Given the description of an element on the screen output the (x, y) to click on. 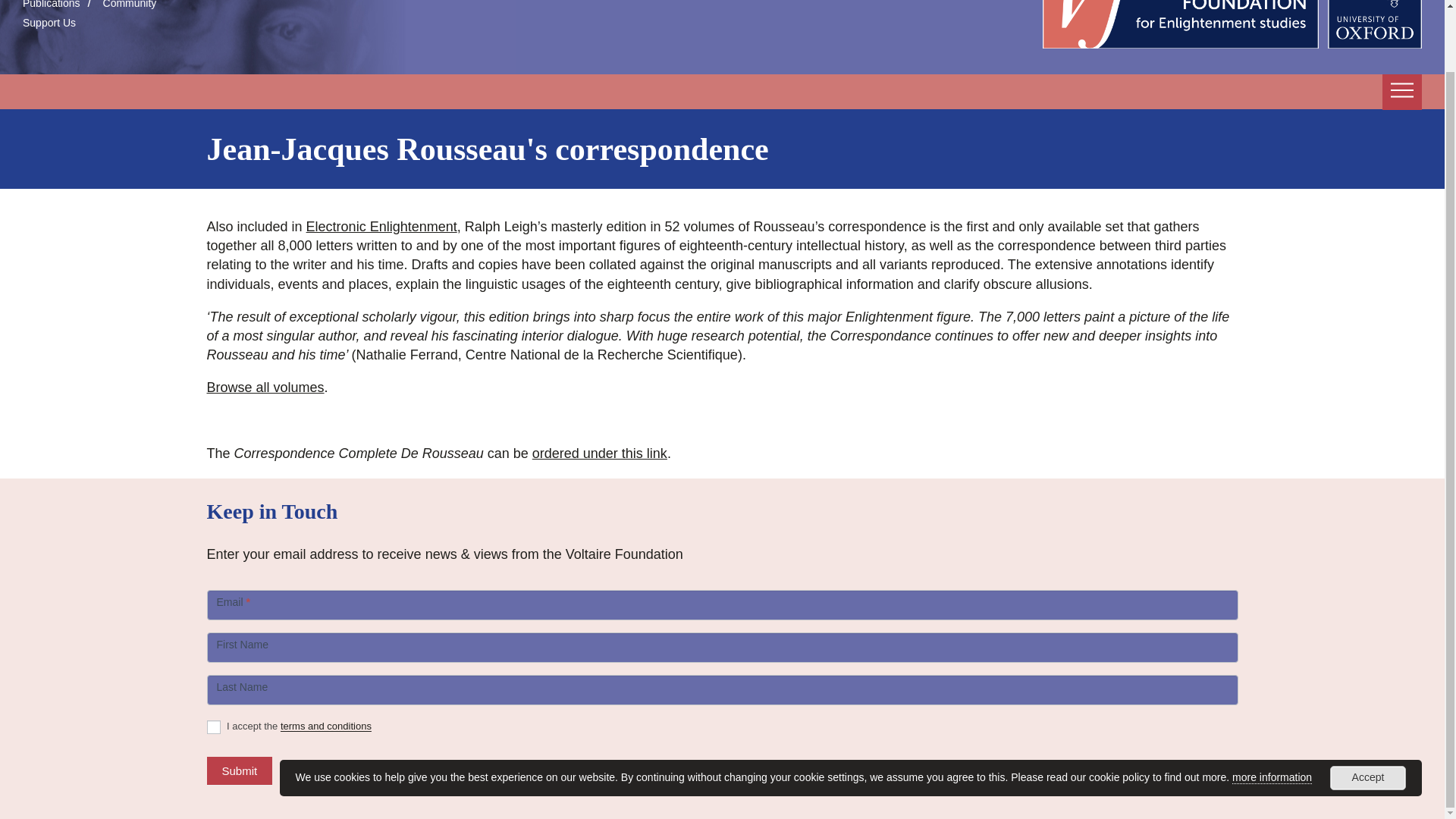
Community (130, 4)
more information (1271, 709)
Menu (1401, 91)
Browse all volumes (264, 387)
Accept (1368, 710)
Publications (51, 4)
ordered under this link (599, 453)
Electronic Enlightenment (381, 226)
terms and conditions (326, 726)
Support Us (49, 22)
